Given the description of an element on the screen output the (x, y) to click on. 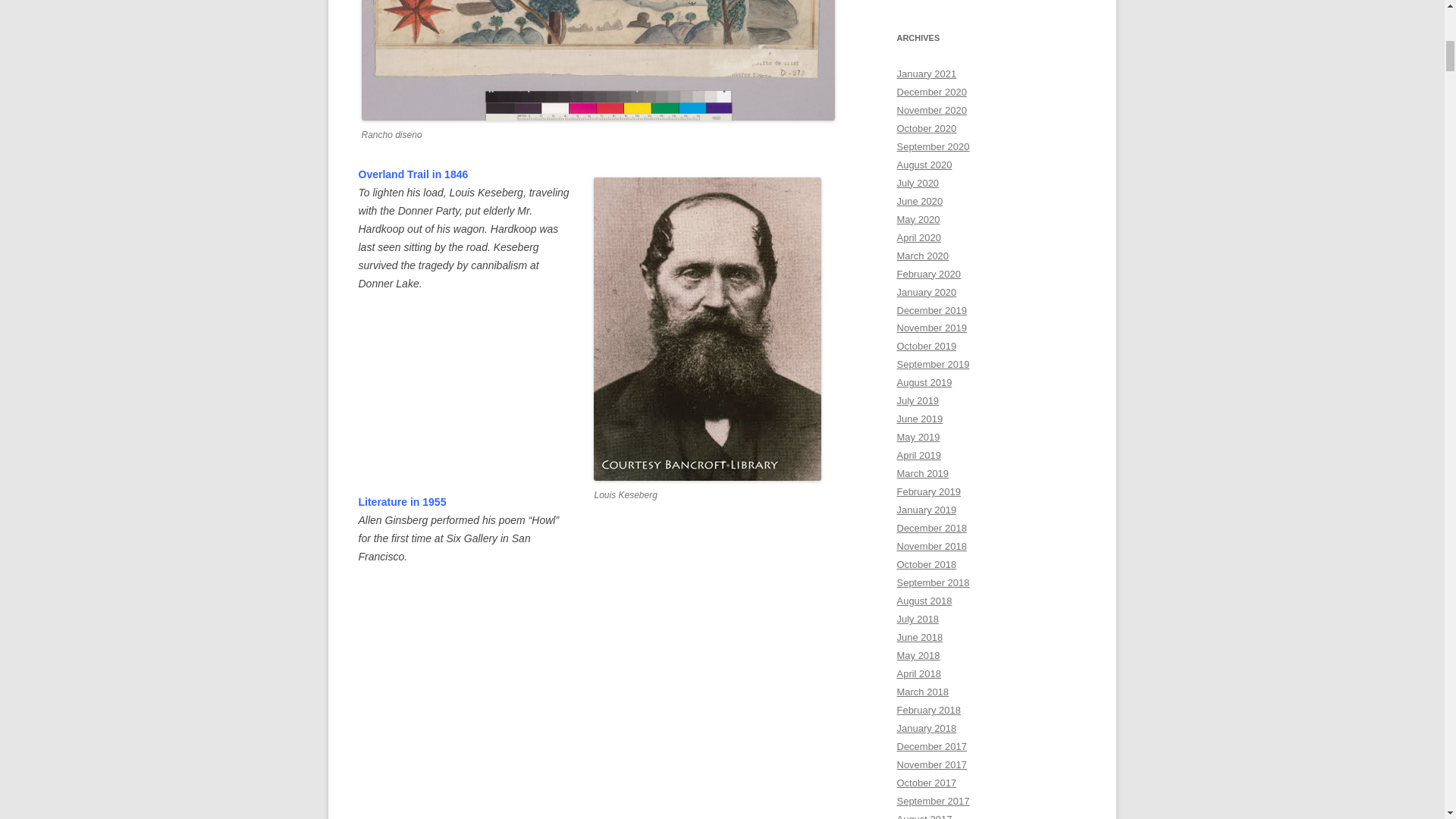
November 2020 (931, 110)
January 2020 (926, 292)
December 2020 (931, 91)
January 2021 (926, 73)
April 2020 (918, 237)
March 2020 (922, 255)
June 2020 (919, 201)
February 2020 (927, 274)
July 2020 (917, 183)
October 2020 (926, 128)
May 2020 (917, 219)
August 2020 (924, 164)
November 2019 (931, 327)
December 2019 (931, 310)
September 2020 (932, 146)
